Given the description of an element on the screen output the (x, y) to click on. 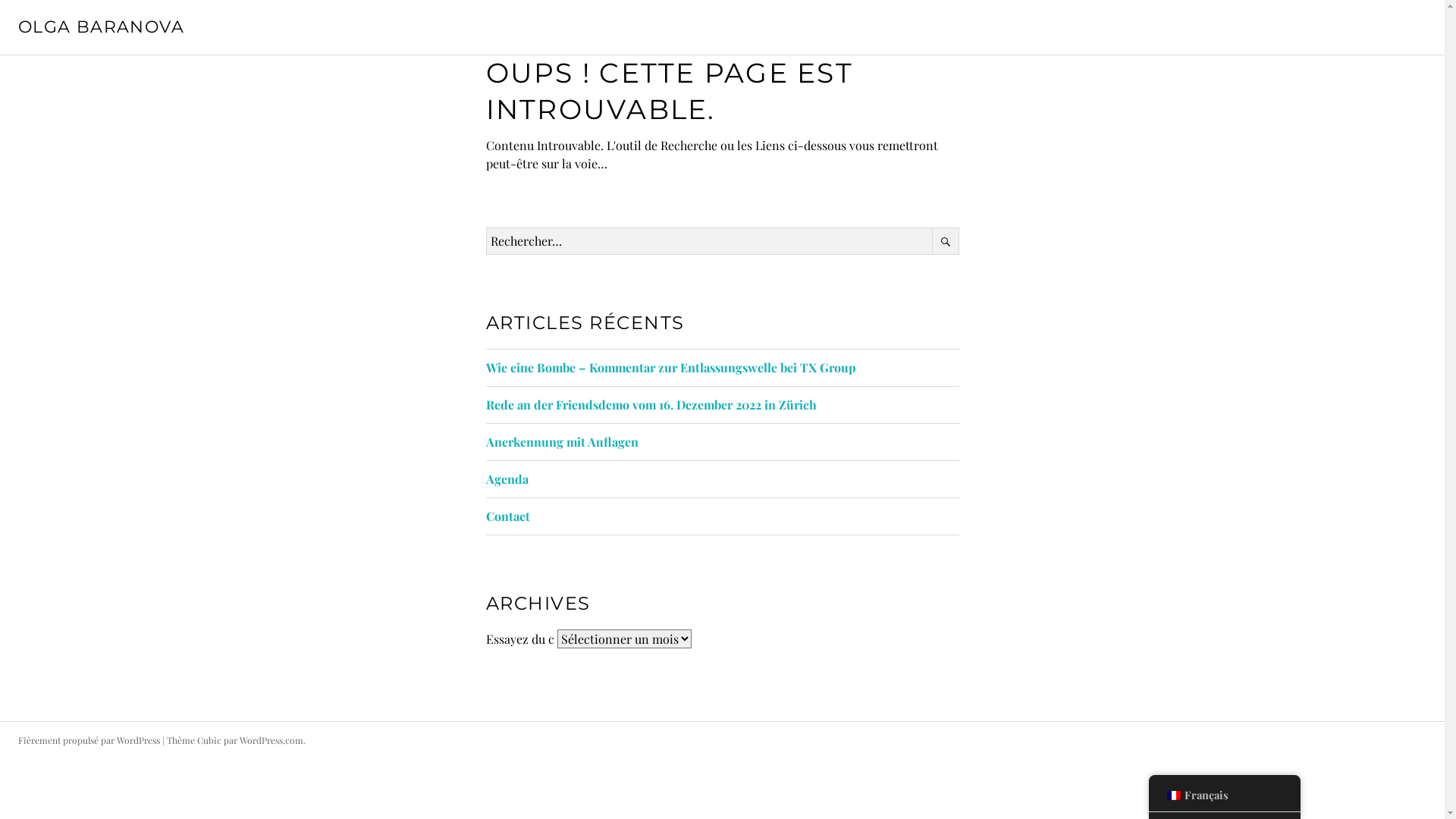
Contact Element type: text (507, 516)
Agenda Element type: text (506, 478)
Anerkennung mit Auflagen Element type: text (561, 441)
OLGA BARANOVA Element type: text (101, 26)
WordPress.com Element type: text (271, 740)
Rechercher Element type: text (944, 240)
